Given the description of an element on the screen output the (x, y) to click on. 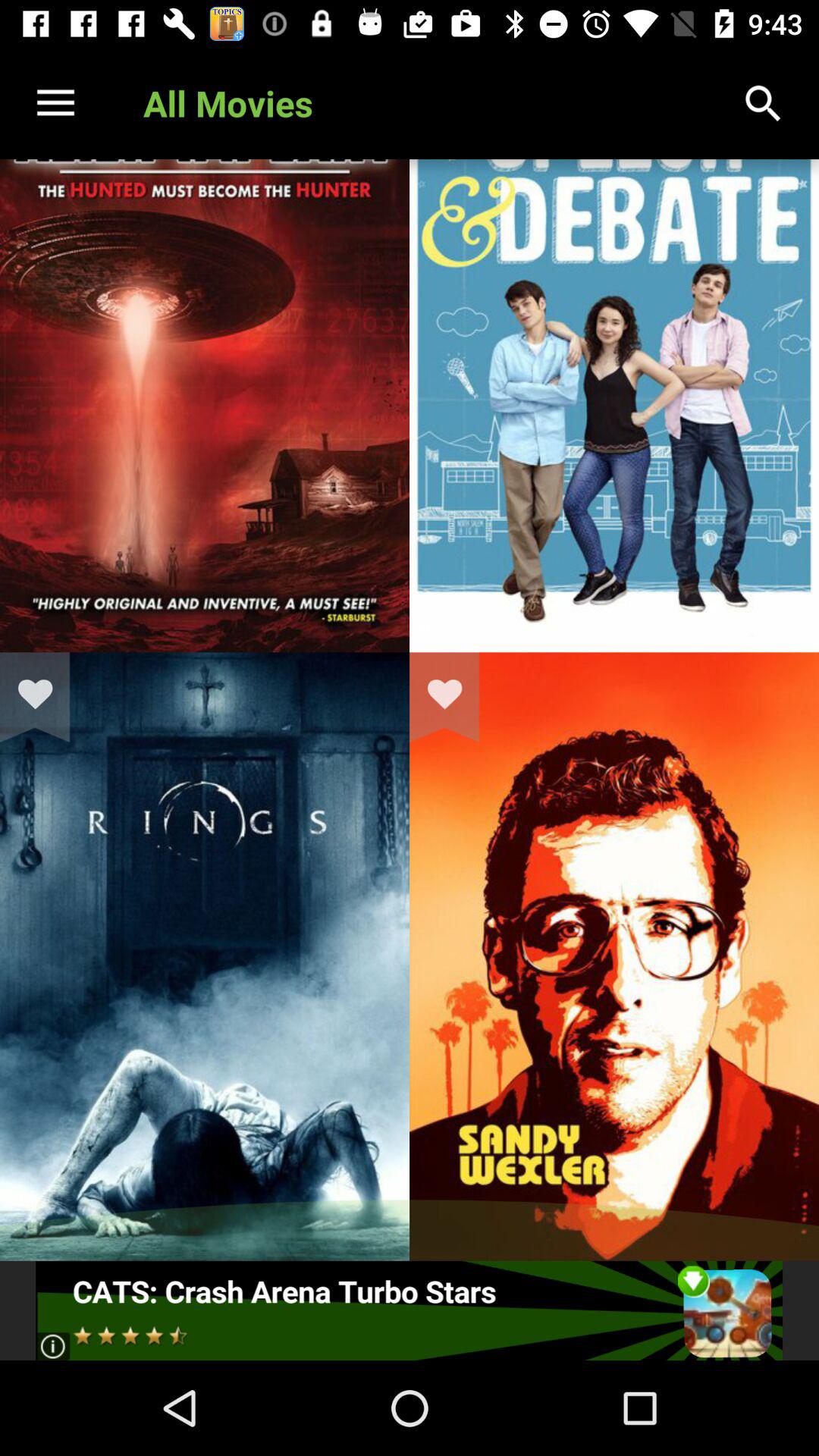
press the icon next to the all movies item (55, 103)
